Given the description of an element on the screen output the (x, y) to click on. 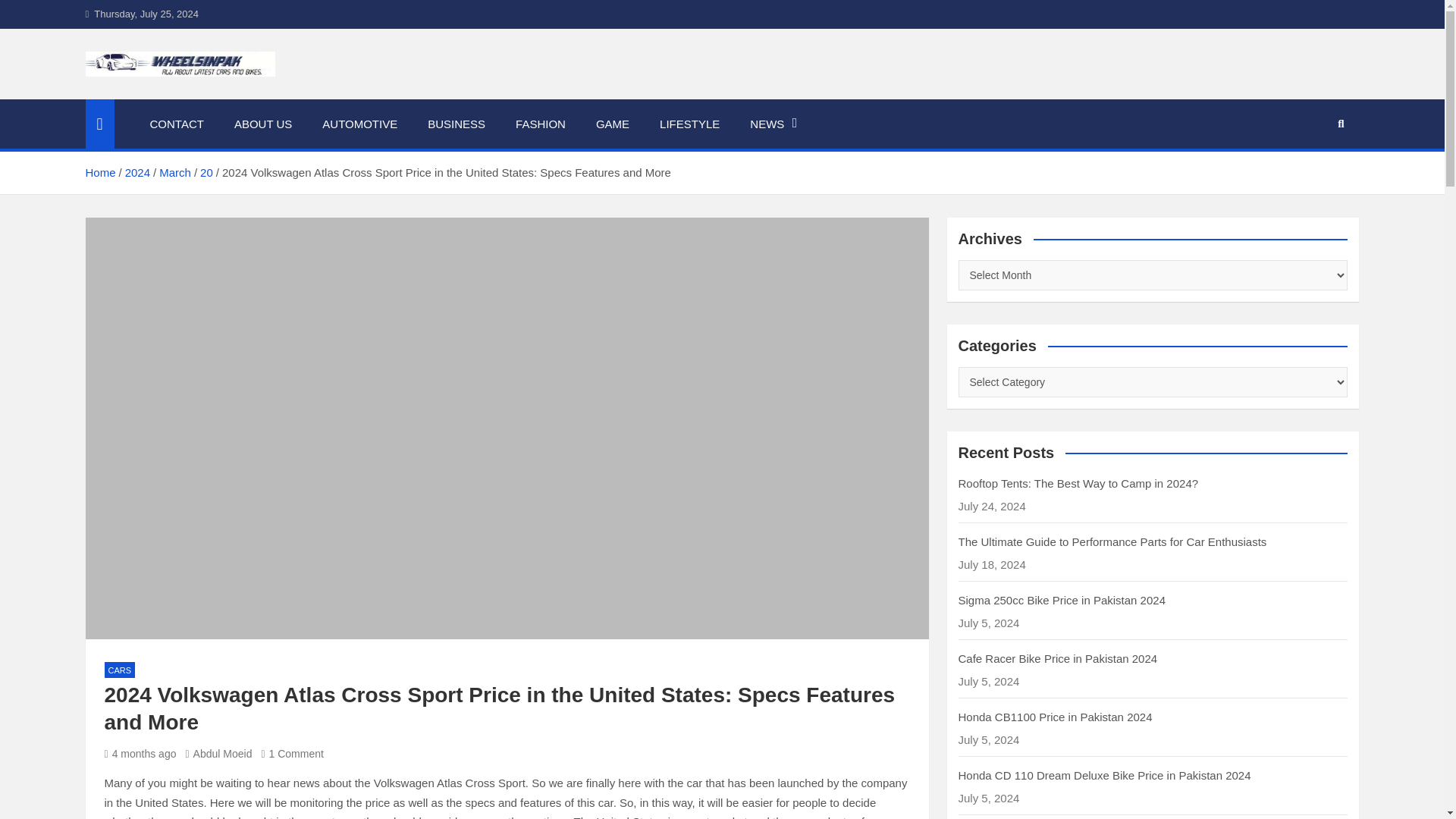
Abdul Moeid (217, 753)
CARS (119, 669)
Home (99, 172)
GAME (612, 124)
LIFESTYLE (690, 124)
Wheelsinpak (177, 96)
BUSINESS (456, 124)
1 Comment (291, 753)
NEWS (773, 124)
4 months ago (140, 753)
2024 (137, 172)
FASHION (540, 124)
CONTACT (177, 124)
ABOUT US (263, 124)
March (174, 172)
